Given the description of an element on the screen output the (x, y) to click on. 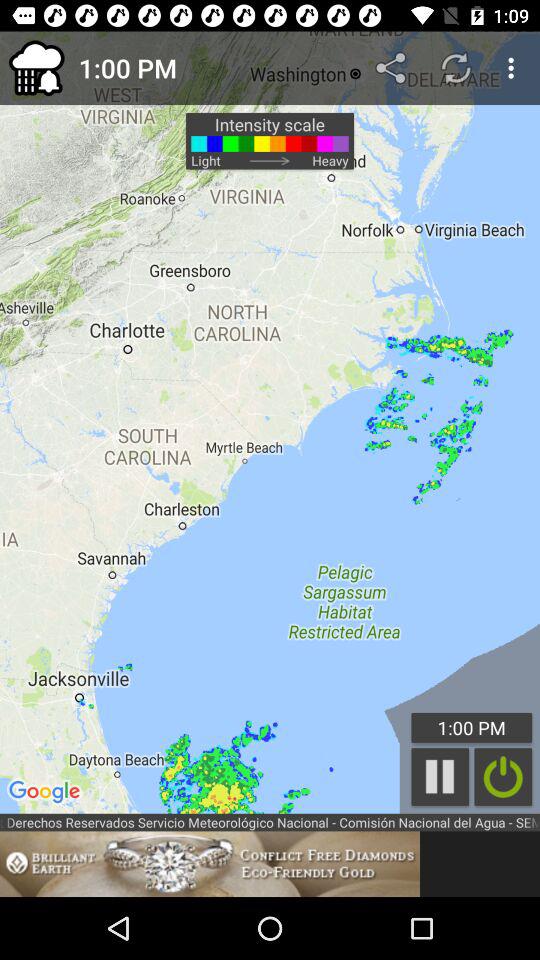
power on/off (503, 776)
